Given the description of an element on the screen output the (x, y) to click on. 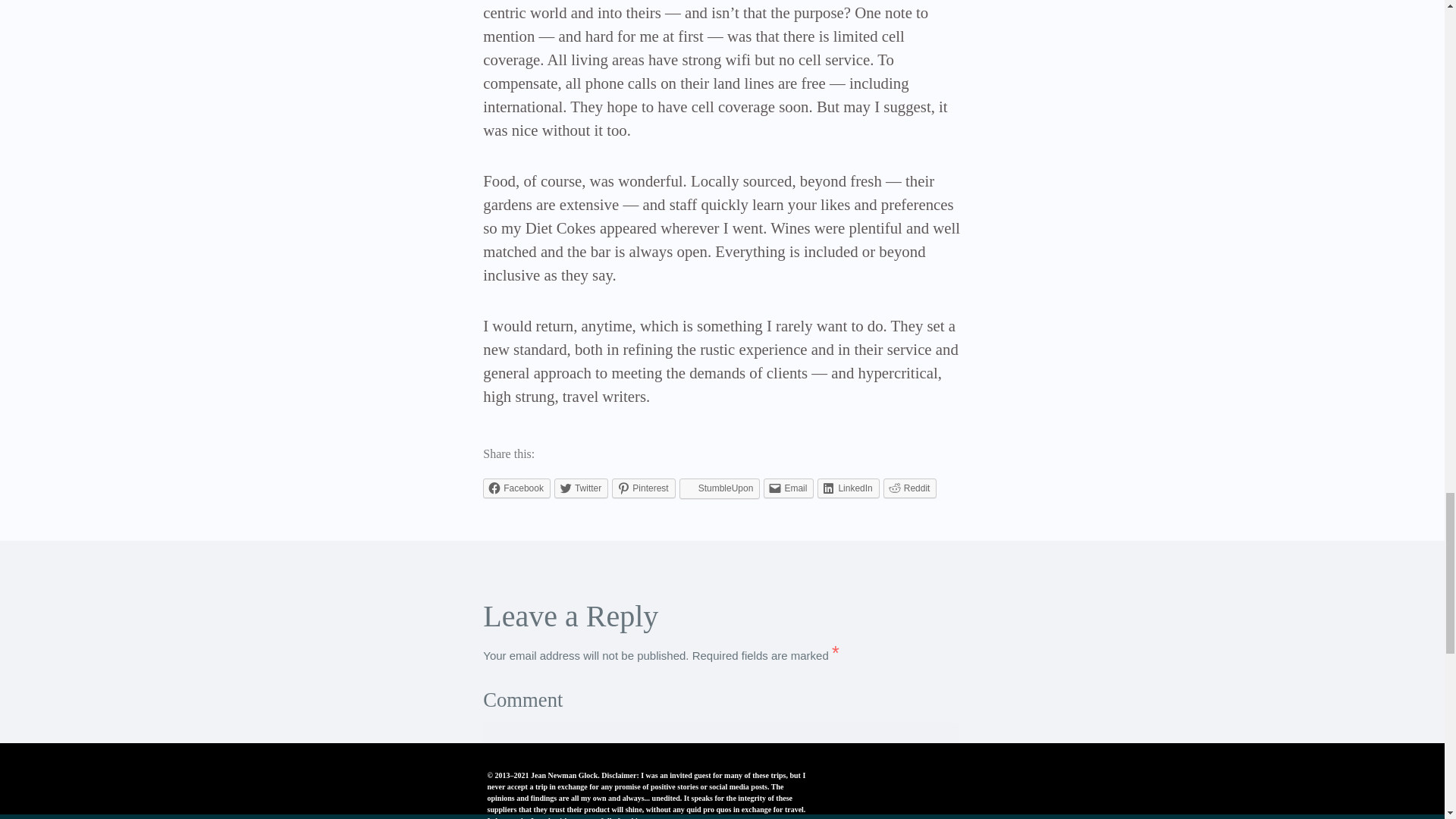
Click to share on Facebook (516, 487)
Click to share on StumbleUpon (719, 488)
Click to share on LinkedIn (847, 487)
Click to share on Twitter (581, 487)
Click to share on Pinterest (643, 487)
Click to share on Reddit (910, 487)
Click to email this to a friend (787, 487)
